Given the description of an element on the screen output the (x, y) to click on. 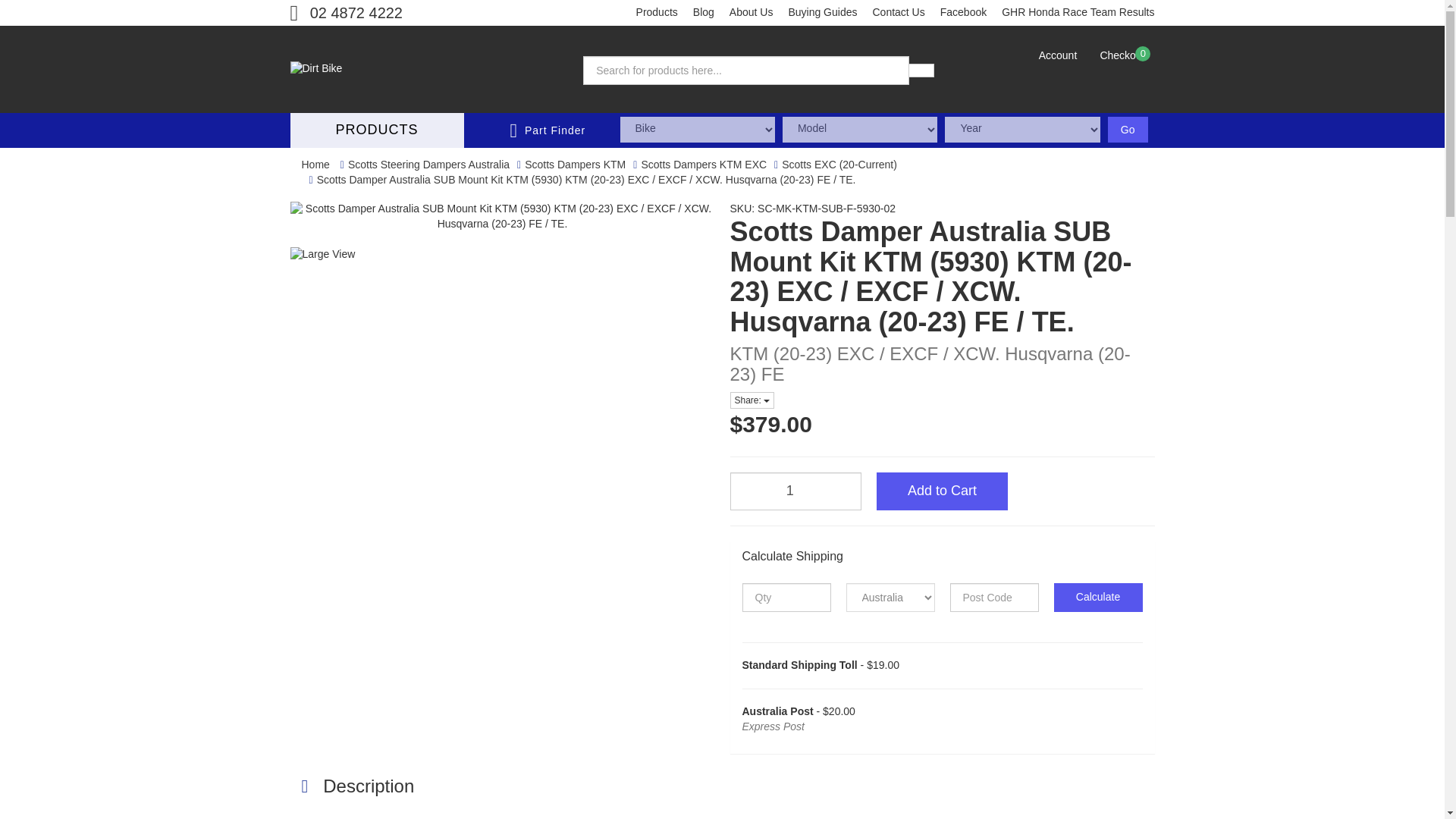
Contact Us (898, 12)
GHR Honda Race Team Results (1077, 12)
1 (794, 491)
Account (1057, 55)
Search (921, 69)
Buying Guides (822, 12)
Add to Cart (941, 491)
Large View (336, 254)
Products (657, 12)
02 4872 4222 (346, 12)
